Given the description of an element on the screen output the (x, y) to click on. 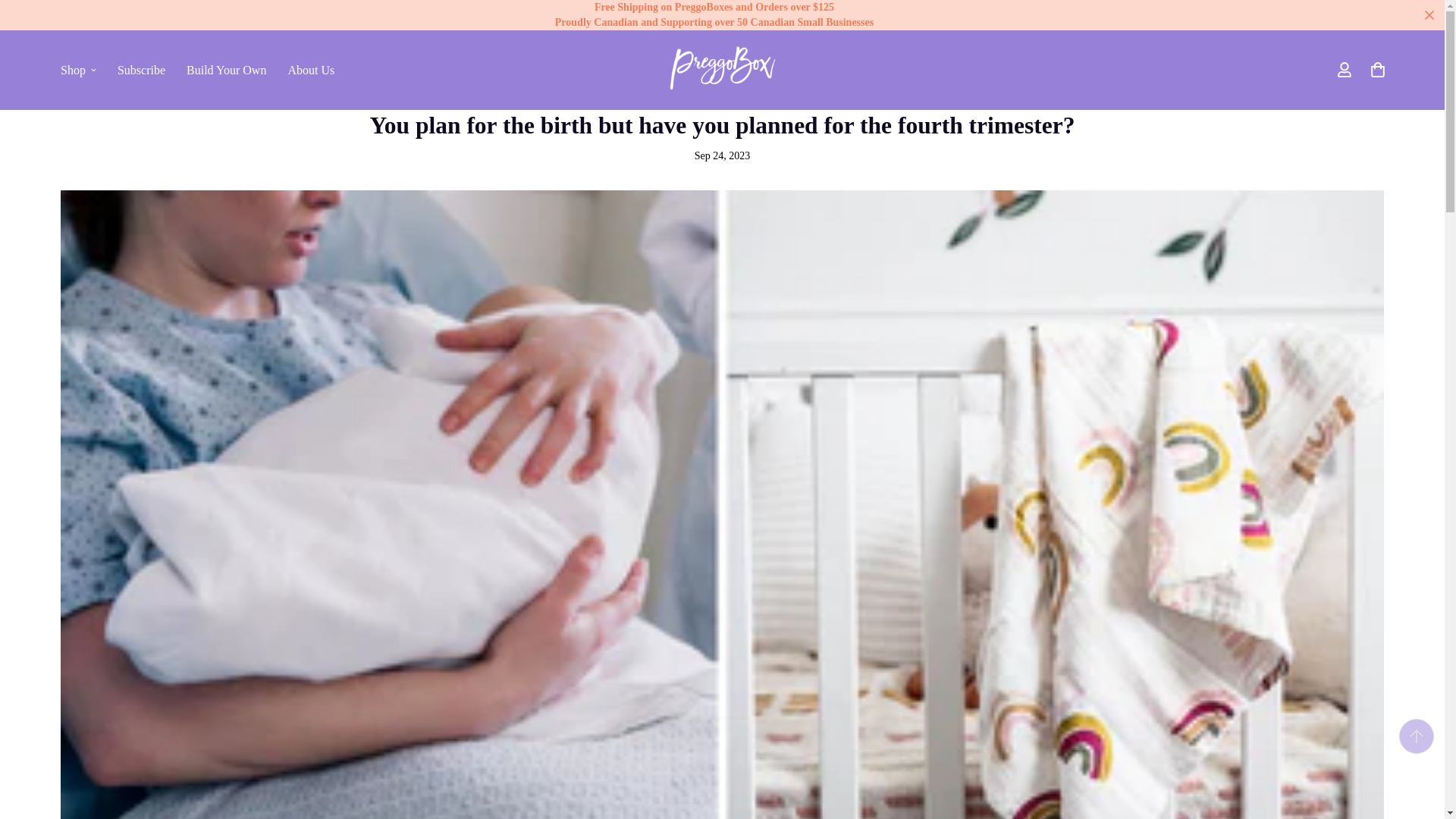
Build Your Own (226, 69)
Back to the home page (695, 63)
PreggoBox (721, 69)
Subscribe (141, 69)
About Us (310, 69)
Shop (197, 69)
